Given the description of an element on the screen output the (x, y) to click on. 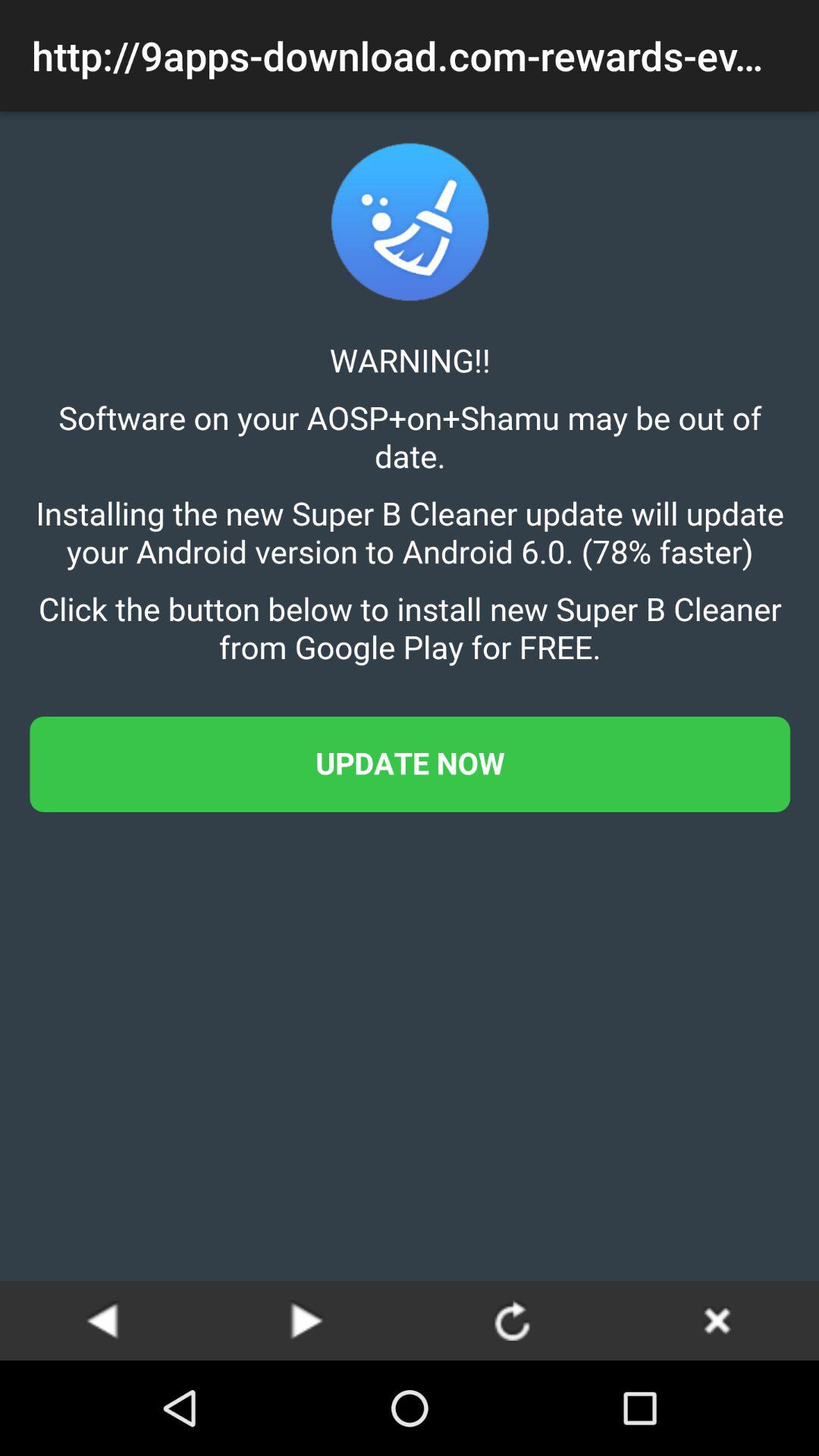
start the app (306, 1320)
